Given the description of an element on the screen output the (x, y) to click on. 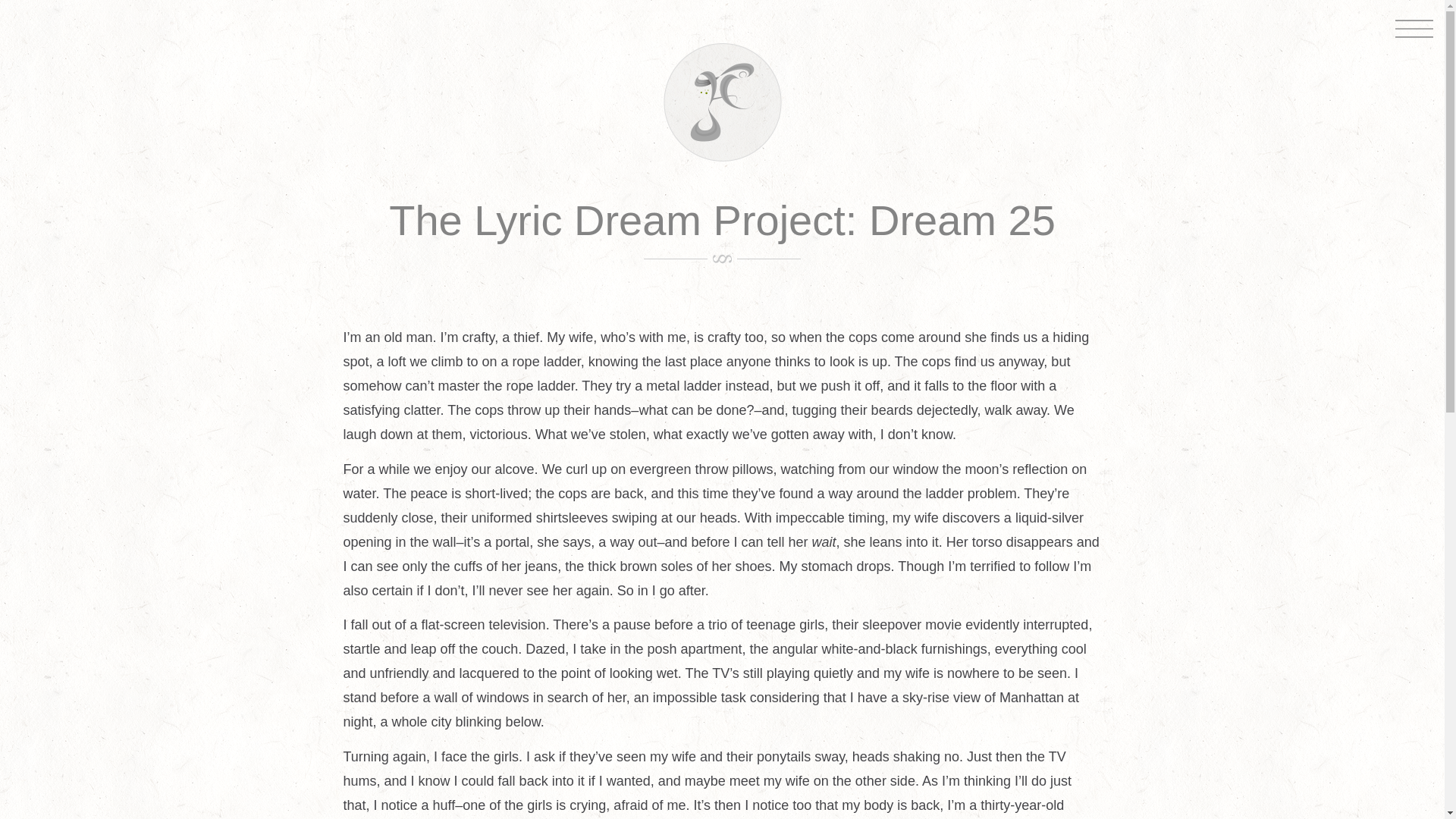
Fogged Clarity (721, 156)
